Given the description of an element on the screen output the (x, y) to click on. 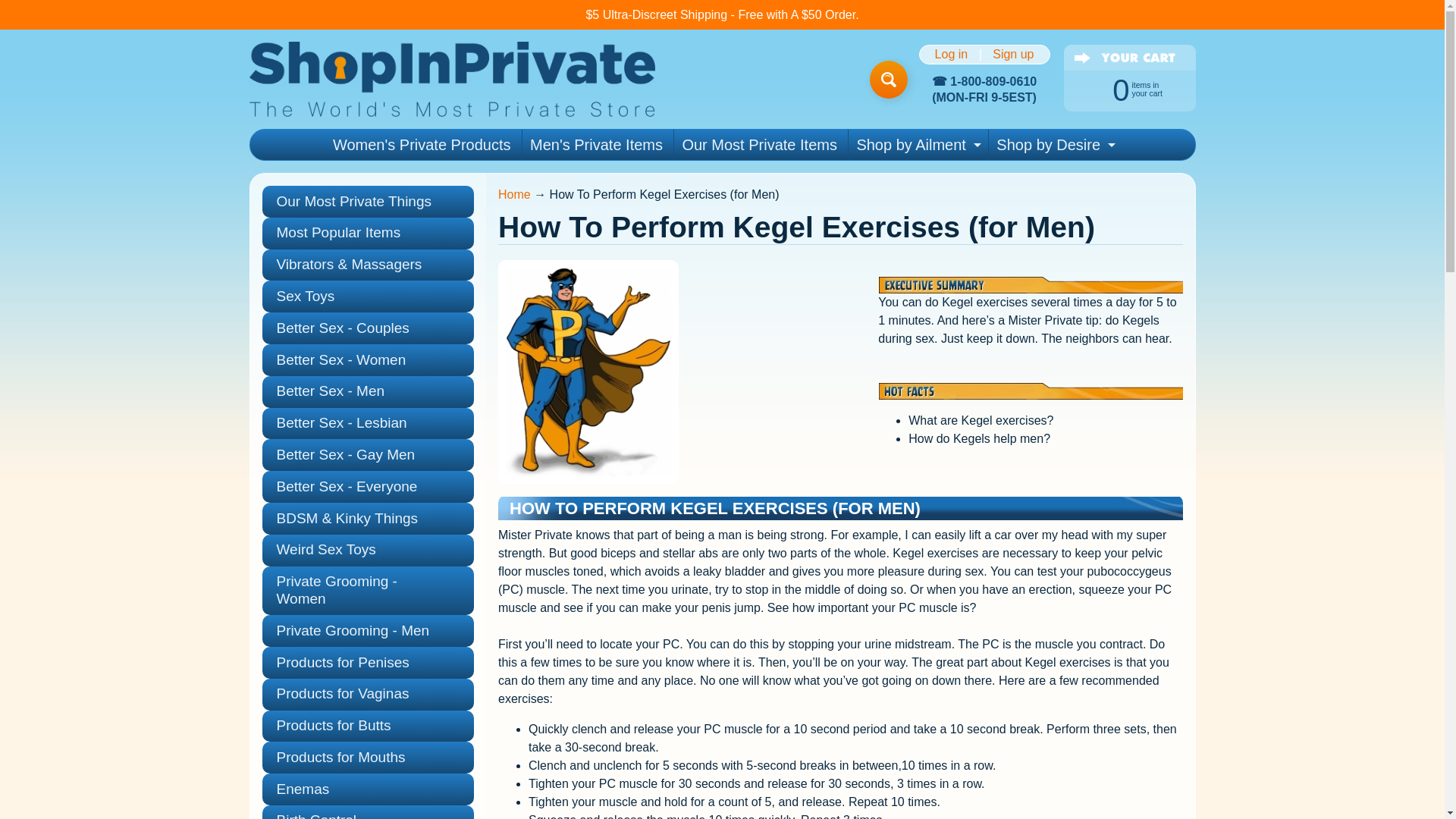
ShopInPrivate.com (450, 79)
Sign up (1013, 54)
Search (888, 79)
Men's Private Items (595, 144)
Search (1053, 144)
Skip to content (888, 79)
Women's Private Products (22, 8)
Log in (421, 144)
Our Most Private Items (951, 54)
